Given the description of an element on the screen output the (x, y) to click on. 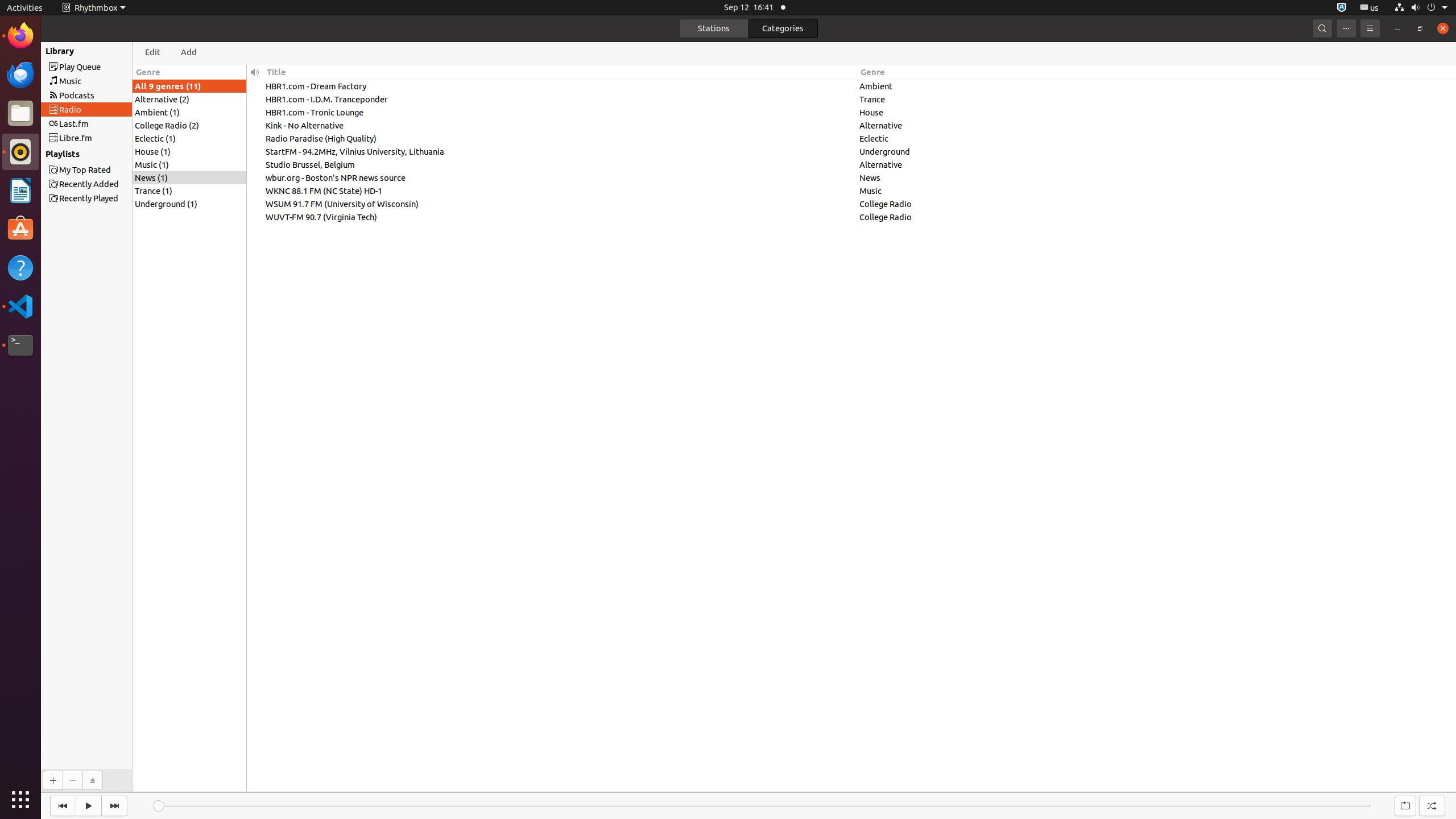
Ambient (1) Element type: table-cell (189, 112)
Radio Paradise (High Quality) Element type: table-cell (559, 138)
Trance (1) Element type: table-cell (189, 190)
